Given the description of an element on the screen output the (x, y) to click on. 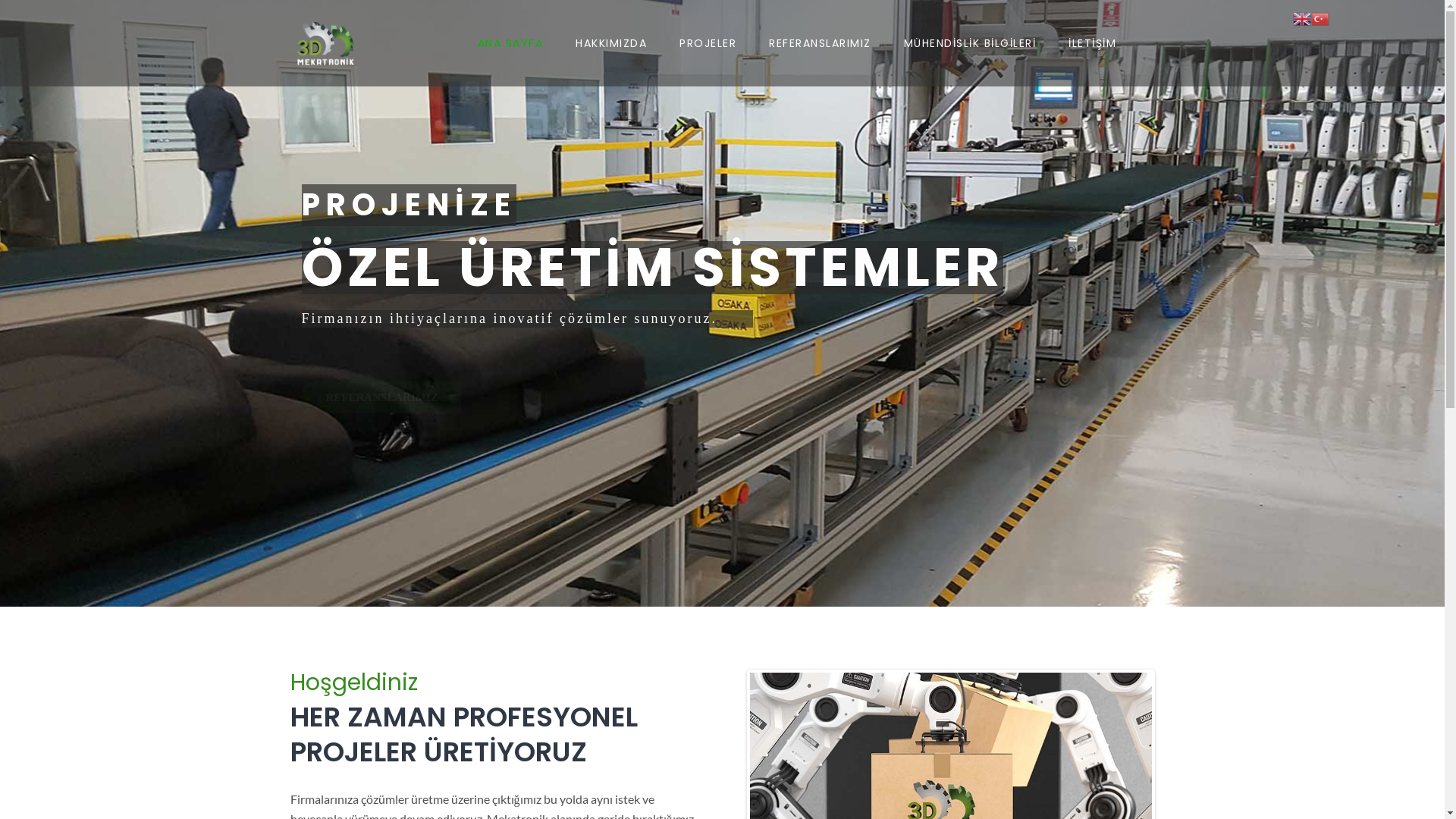
Turkish Element type: hover (1320, 16)
ANA SAYFA Element type: text (510, 42)
PROJELER Element type: text (707, 42)
HAKKIMIZDA Element type: text (610, 42)
English Element type: hover (1301, 16)
REFERANSLARIMIZ Element type: text (819, 42)
